Given the description of an element on the screen output the (x, y) to click on. 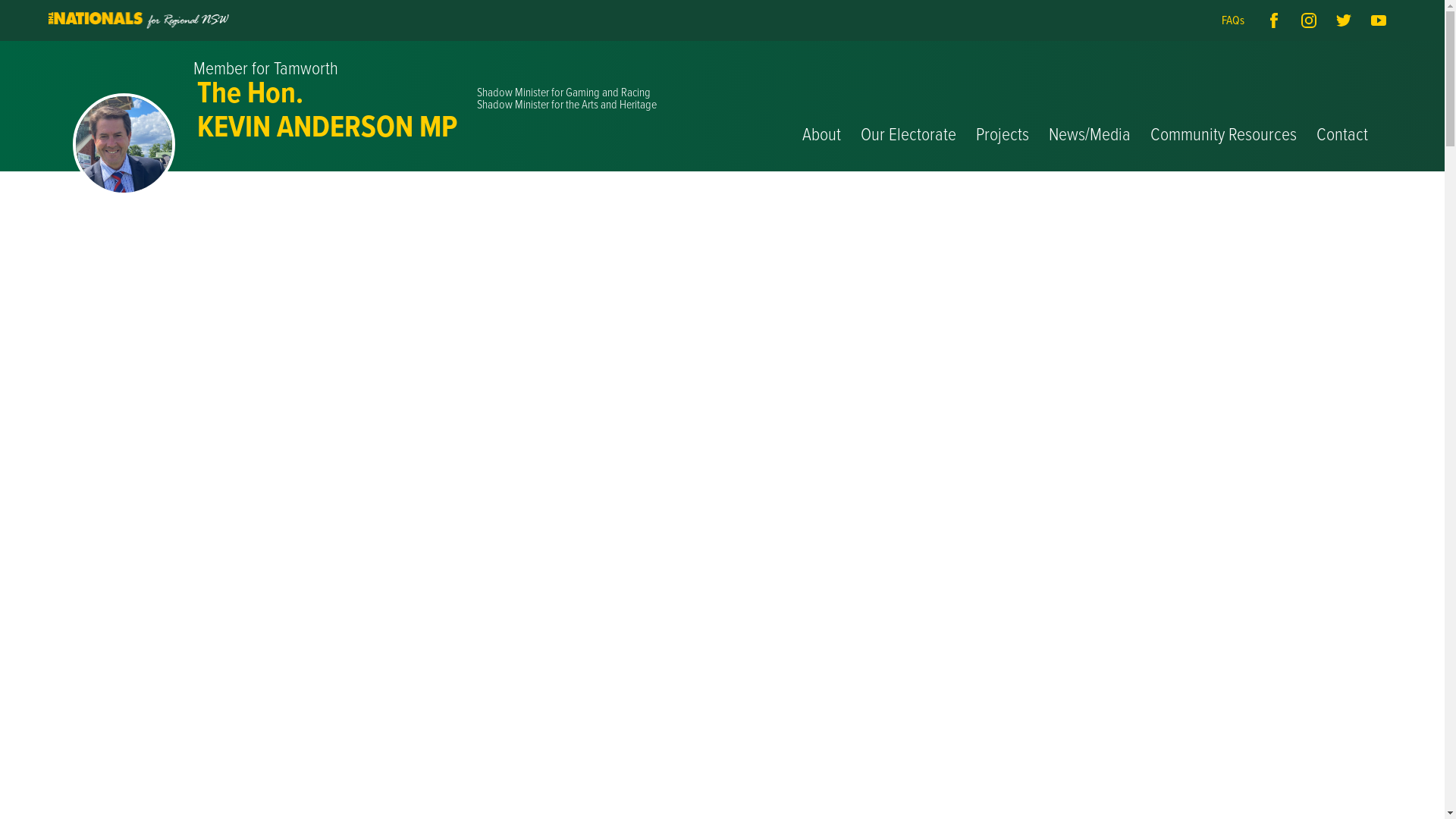
Projects Element type: text (1002, 105)
Community Resources Element type: text (1223, 105)
FAQs Element type: text (1232, 20)
Our Electorate Element type: text (908, 105)
See us on Instagram Element type: hover (1308, 20)
Find us on Facebook Element type: hover (1273, 20)
News/Media Element type: text (1089, 105)
About Element type: text (821, 105)
Follow us on Twitter Element type: hover (1343, 20)
Find us on Youtube Element type: hover (1378, 20)
KEVIN ANDERSON MP Element type: text (327, 126)
Contact Element type: text (1342, 105)
